Given the description of an element on the screen output the (x, y) to click on. 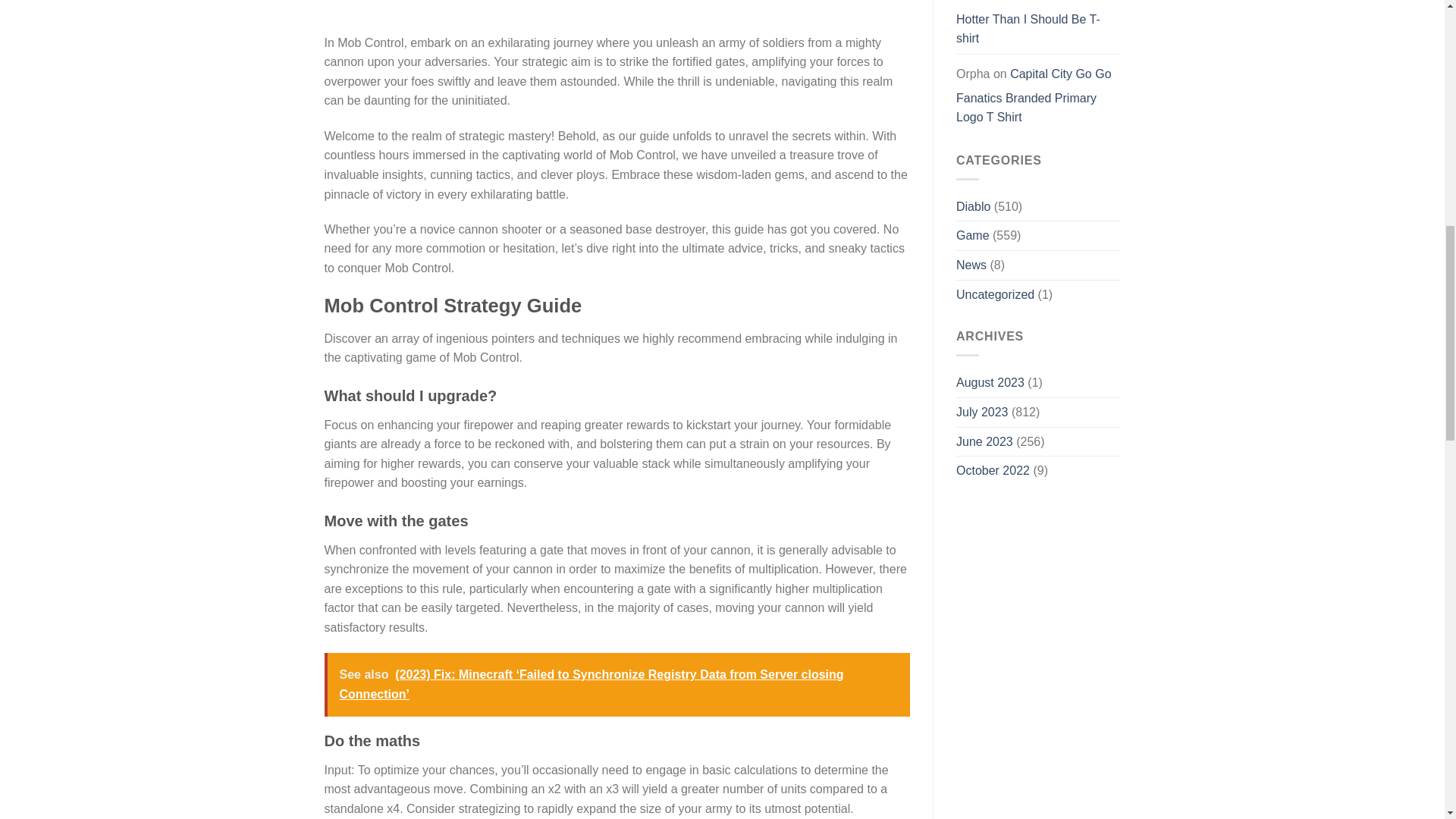
Selena Gomez Hotter Than I Should Be T-shirt (1028, 24)
Capital City Go Go Fanatics Branded Primary Logo T Shirt (1034, 95)
